Given the description of an element on the screen output the (x, y) to click on. 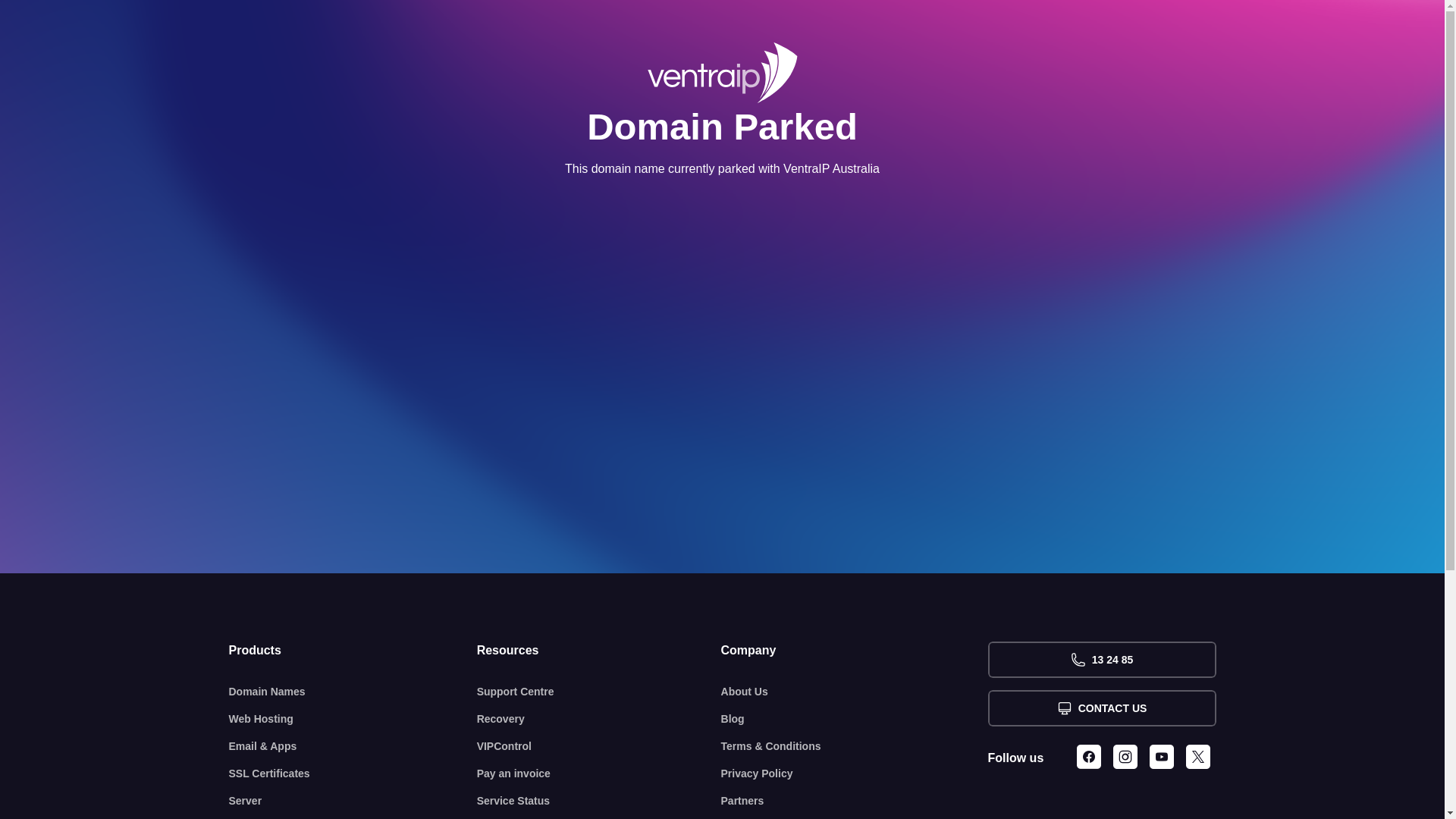
About Us Element type: text (854, 691)
Web Hosting Element type: text (352, 718)
Privacy Policy Element type: text (854, 773)
Server Element type: text (352, 800)
CONTACT US Element type: text (1101, 708)
SSL Certificates Element type: text (352, 773)
Service Status Element type: text (598, 800)
Domain Names Element type: text (352, 691)
Partners Element type: text (854, 800)
Pay an invoice Element type: text (598, 773)
Email & Apps Element type: text (352, 745)
Support Centre Element type: text (598, 691)
Terms & Conditions Element type: text (854, 745)
Recovery Element type: text (598, 718)
Blog Element type: text (854, 718)
VIPControl Element type: text (598, 745)
13 24 85 Element type: text (1101, 659)
